Given the description of an element on the screen output the (x, y) to click on. 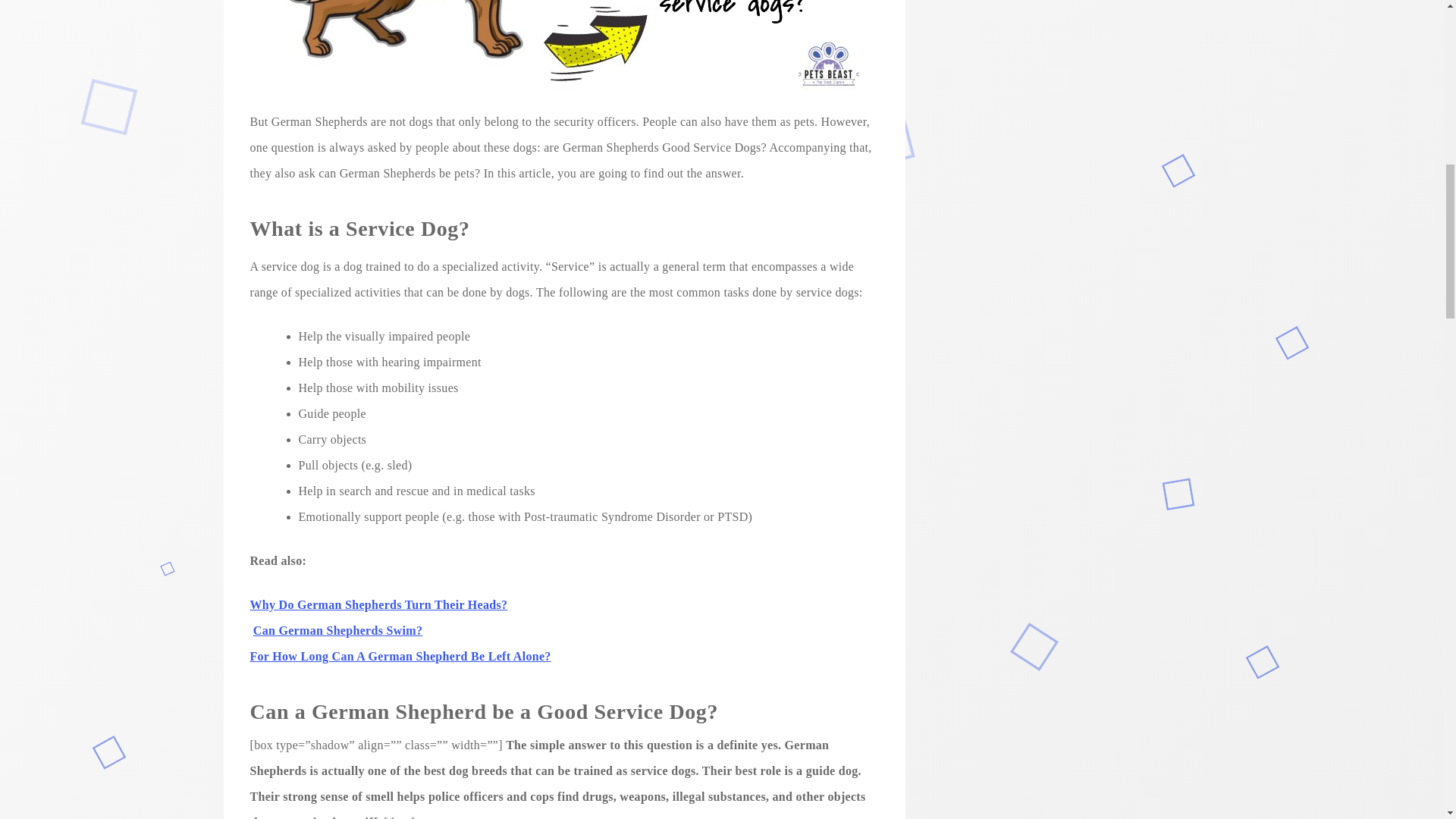
Can German Shepherds Swim? (337, 630)
Are German Shepherds Good Service Dogs? 1 (563, 45)
For How Long Can A German Shepherd Be Left Alone? (400, 656)
Why Do German Shepherds Turn Their Heads? (379, 604)
